Given the description of an element on the screen output the (x, y) to click on. 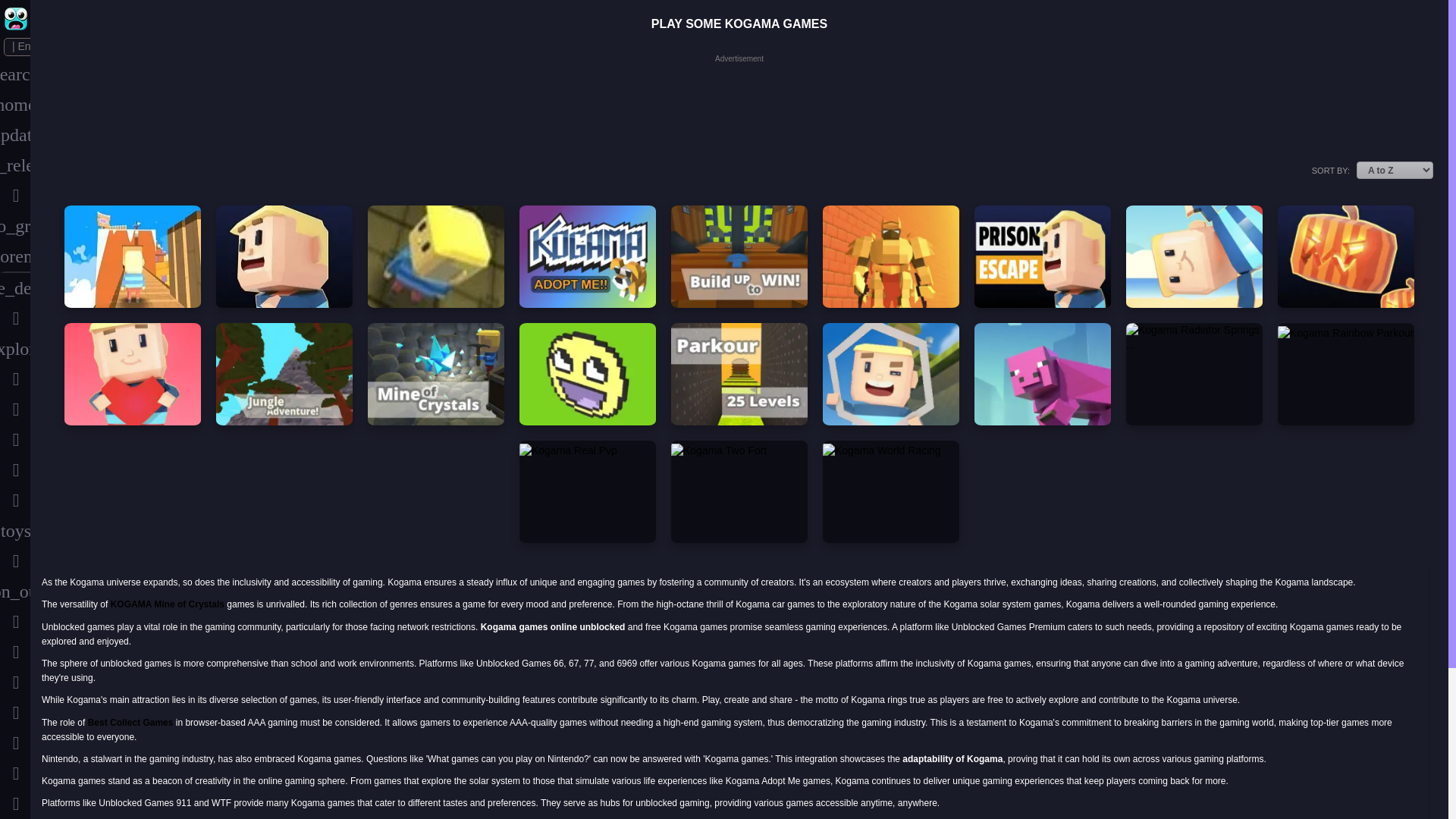
search (15, 73)
home (15, 104)
autorenew (15, 256)
explore (15, 348)
toys (15, 530)
update (15, 134)
